Given the description of an element on the screen output the (x, y) to click on. 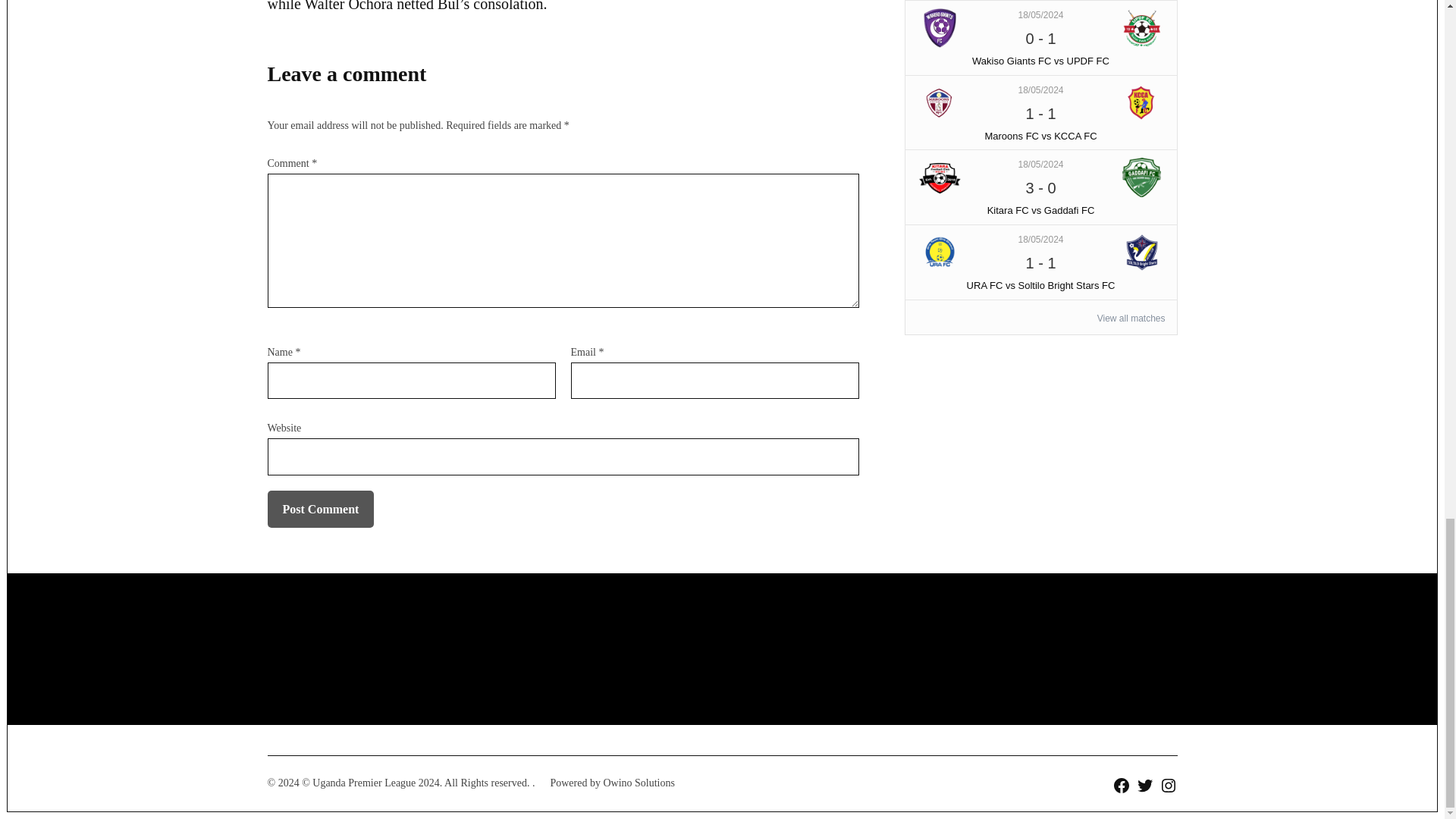
Kitara FC (940, 177)
Maroons FC (940, 102)
UPDF FC (1142, 27)
Wakiso Giants FC (940, 27)
Soltilo Bright Stars FC (1142, 251)
Gaddafi FC (1142, 177)
Post Comment (320, 509)
URA FC (940, 251)
KCCA FC (1142, 102)
